Given the description of an element on the screen output the (x, y) to click on. 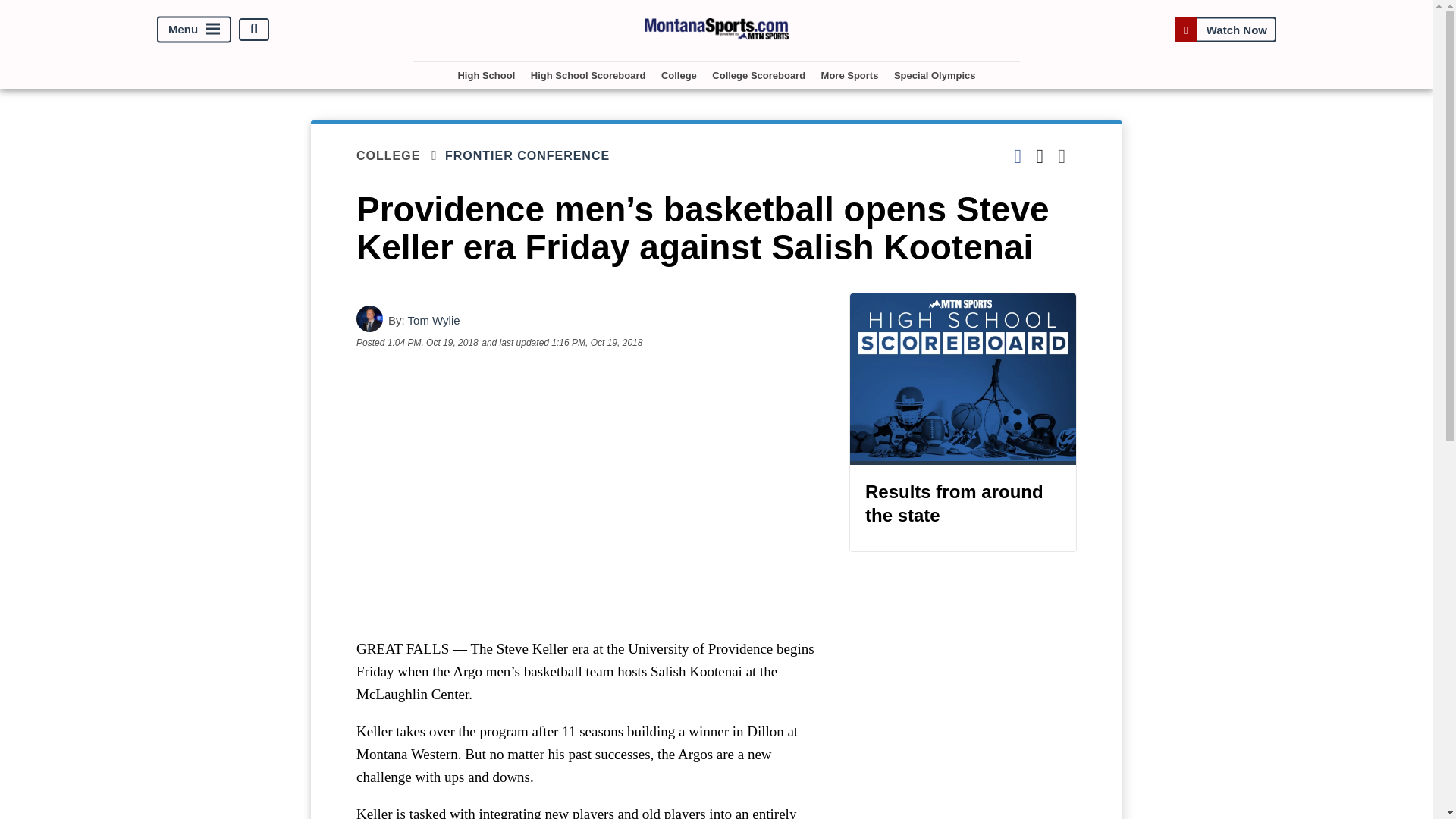
Watch Now (1224, 29)
YouTube player (587, 493)
Menu (194, 28)
